Given the description of an element on the screen output the (x, y) to click on. 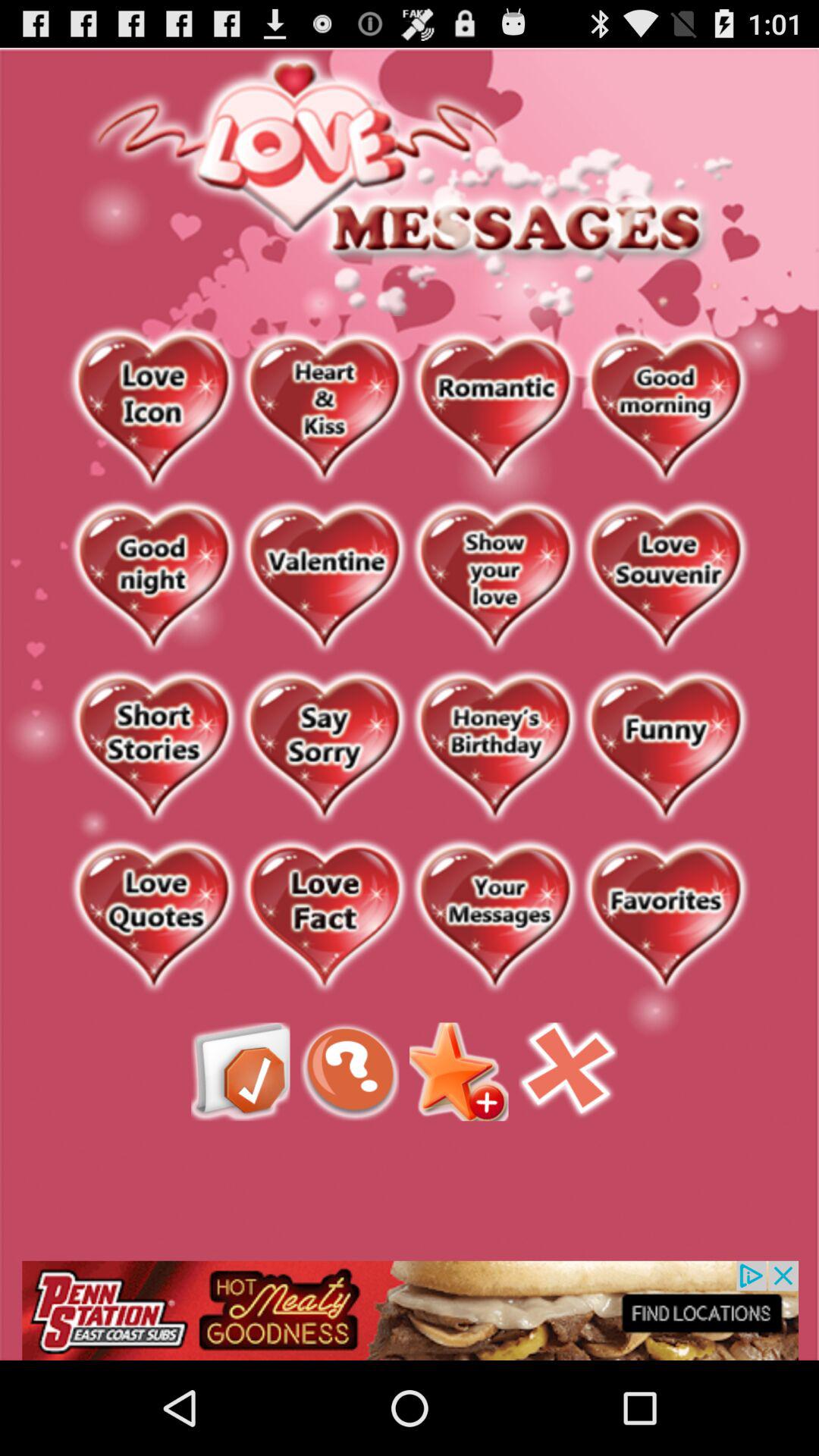
favorites (665, 917)
